Given the description of an element on the screen output the (x, y) to click on. 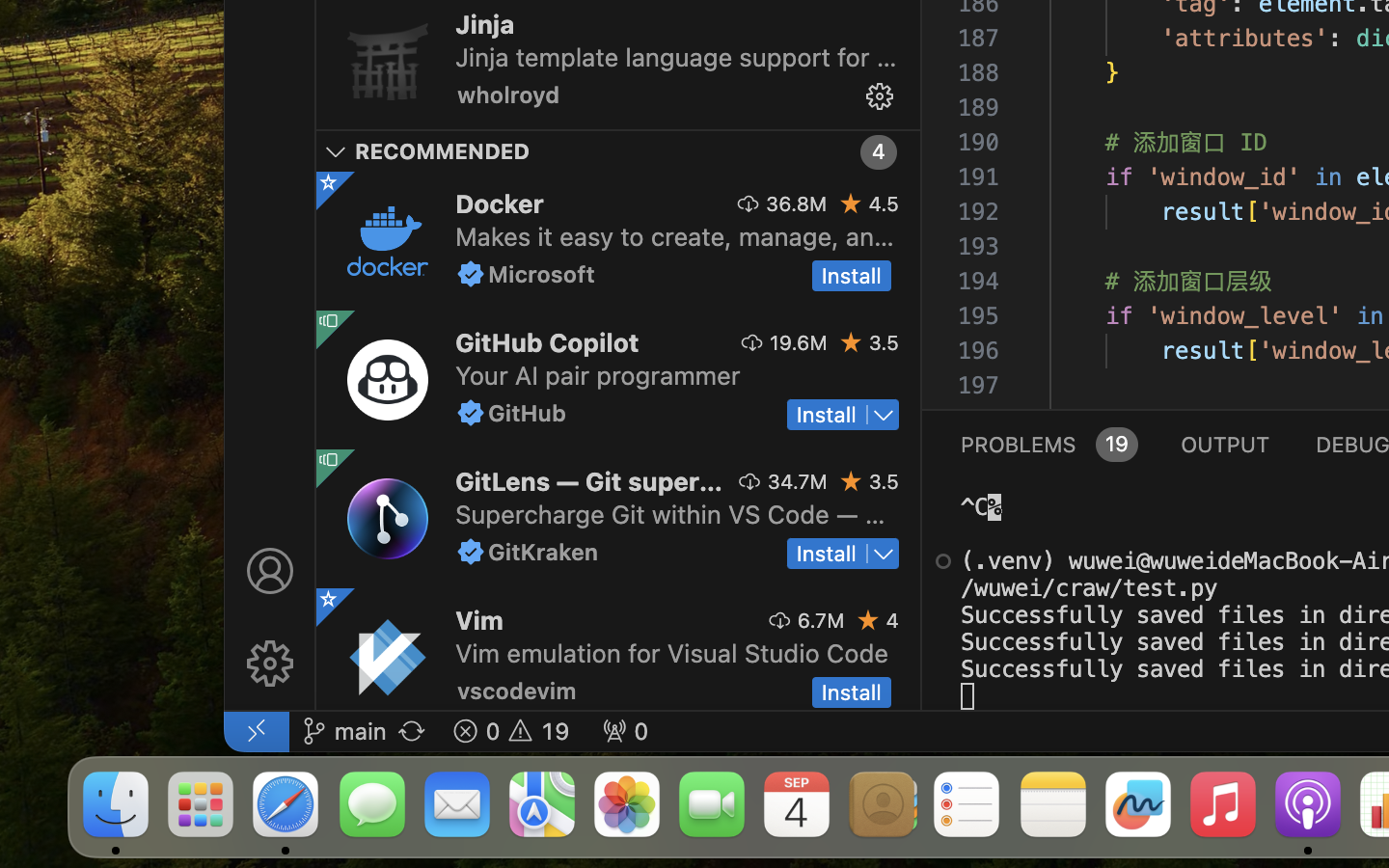
 Element type: AXStaticText (470, 273)
RECOMMENDED Element type: AXStaticText (442, 150)
Makes it easy to create, manage, and debug containerized applications. Element type: AXStaticText (675, 235)
Docker Element type: AXStaticText (499, 203)
 Element type: AXStaticText (942, 560)
